Given the description of an element on the screen output the (x, y) to click on. 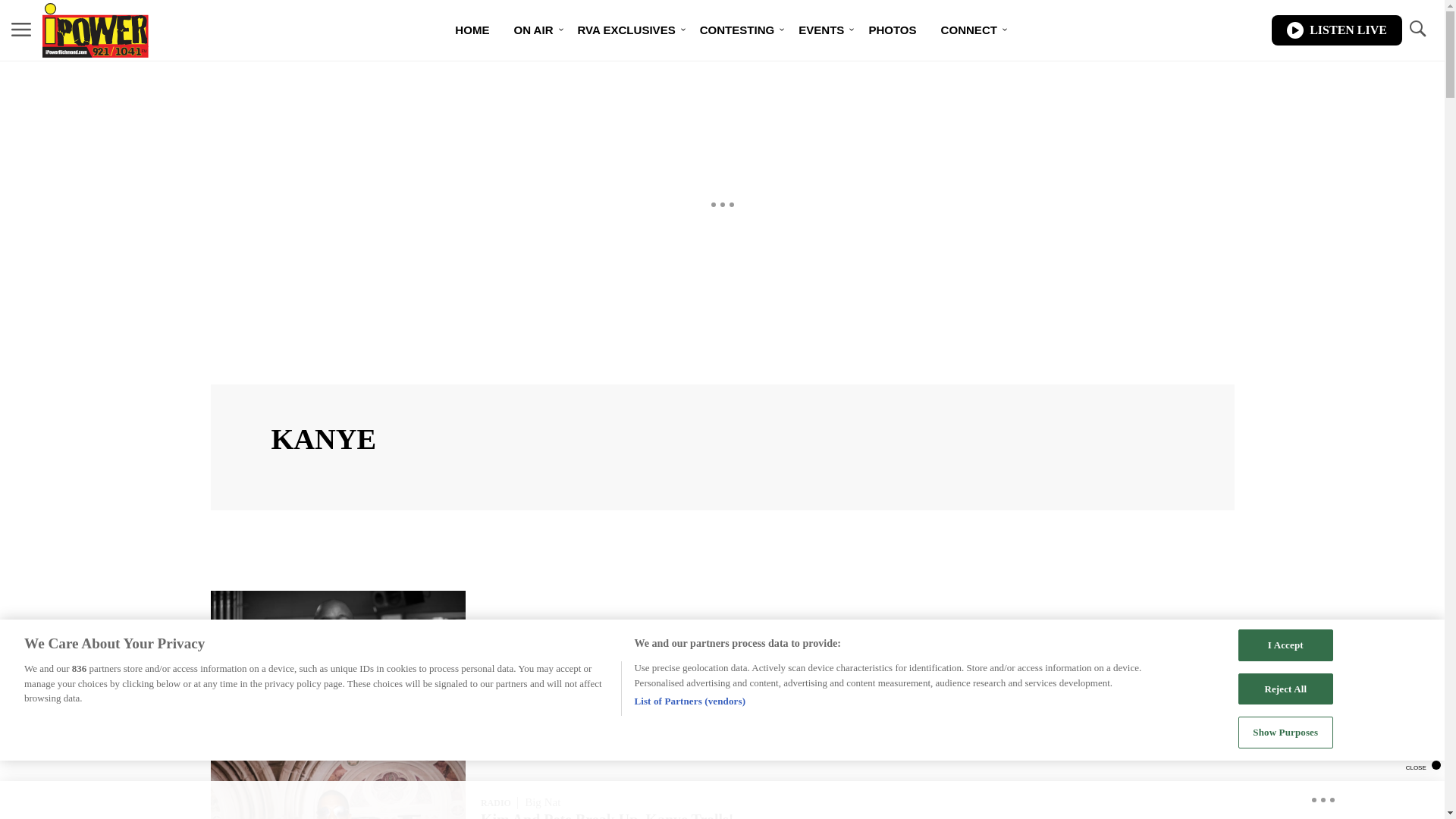
TOGGLE SEARCH (1417, 28)
LISTEN LIVE (1336, 30)
EVENTS (821, 30)
MENU (20, 29)
RVA EXCLUSIVES (626, 30)
ON AIR (532, 30)
HOME (471, 30)
CONTESTING (737, 30)
TOGGLE SEARCH (1417, 30)
PHOTOS (892, 30)
CONNECT (968, 30)
MENU (20, 30)
